Given the description of an element on the screen output the (x, y) to click on. 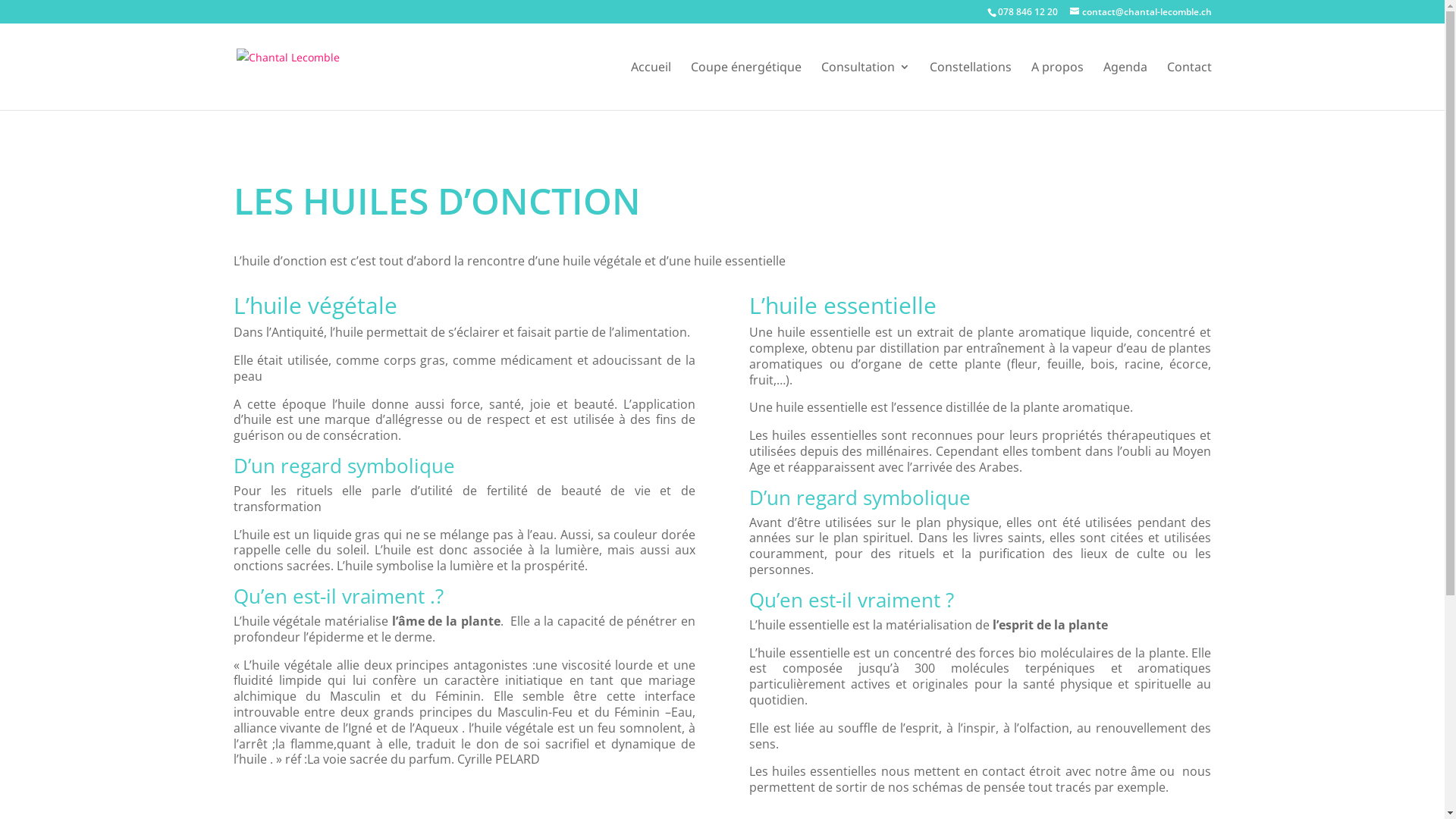
Constellations Element type: text (970, 85)
Accueil Element type: text (650, 85)
Agenda Element type: text (1124, 85)
Contact Element type: text (1188, 85)
A propos Element type: text (1057, 85)
contact@chantal-lecomble.ch Element type: text (1140, 11)
Consultation Element type: text (864, 85)
